Given the description of an element on the screen output the (x, y) to click on. 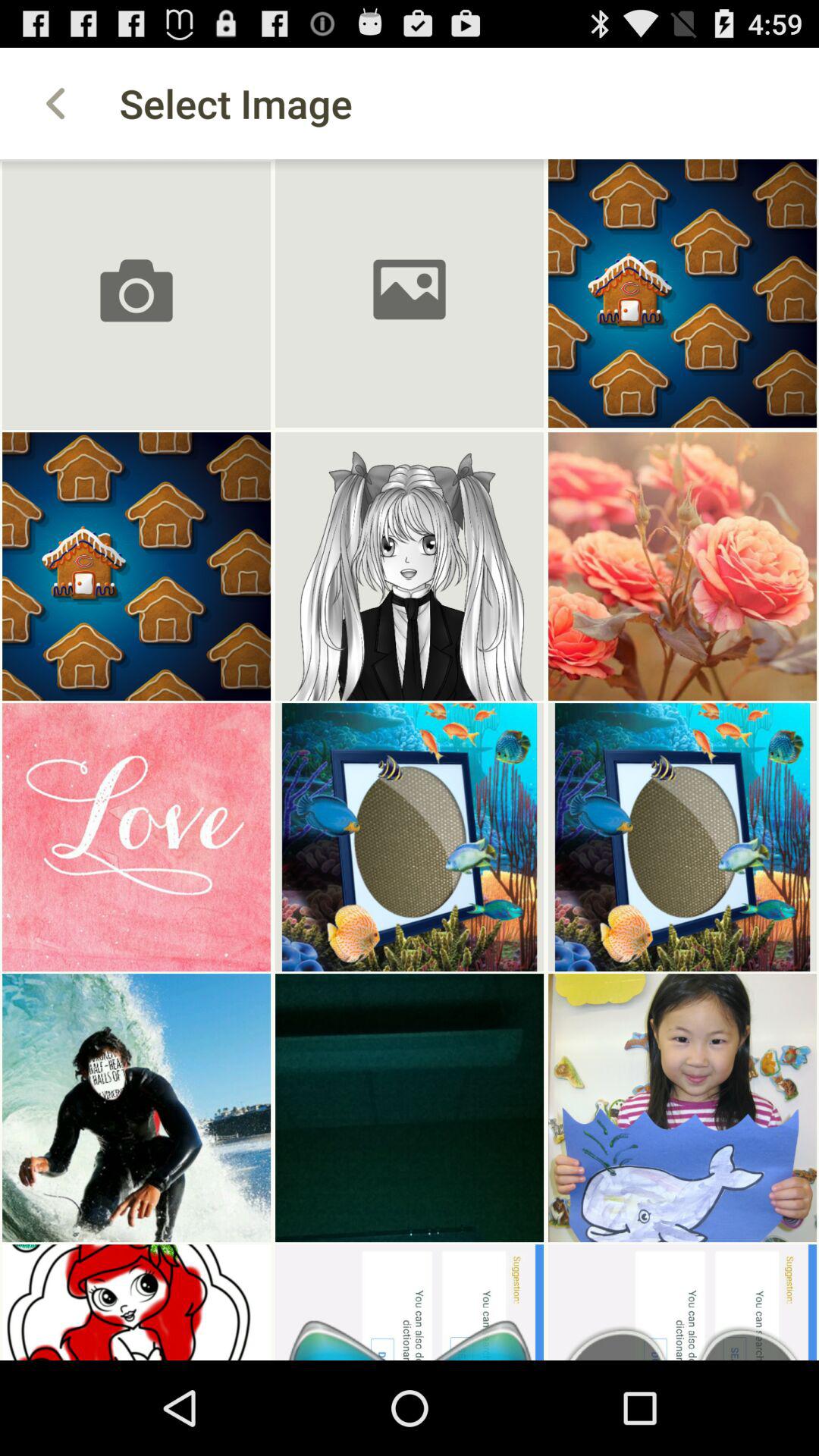
click the icon next to the select image (55, 103)
